Given the description of an element on the screen output the (x, y) to click on. 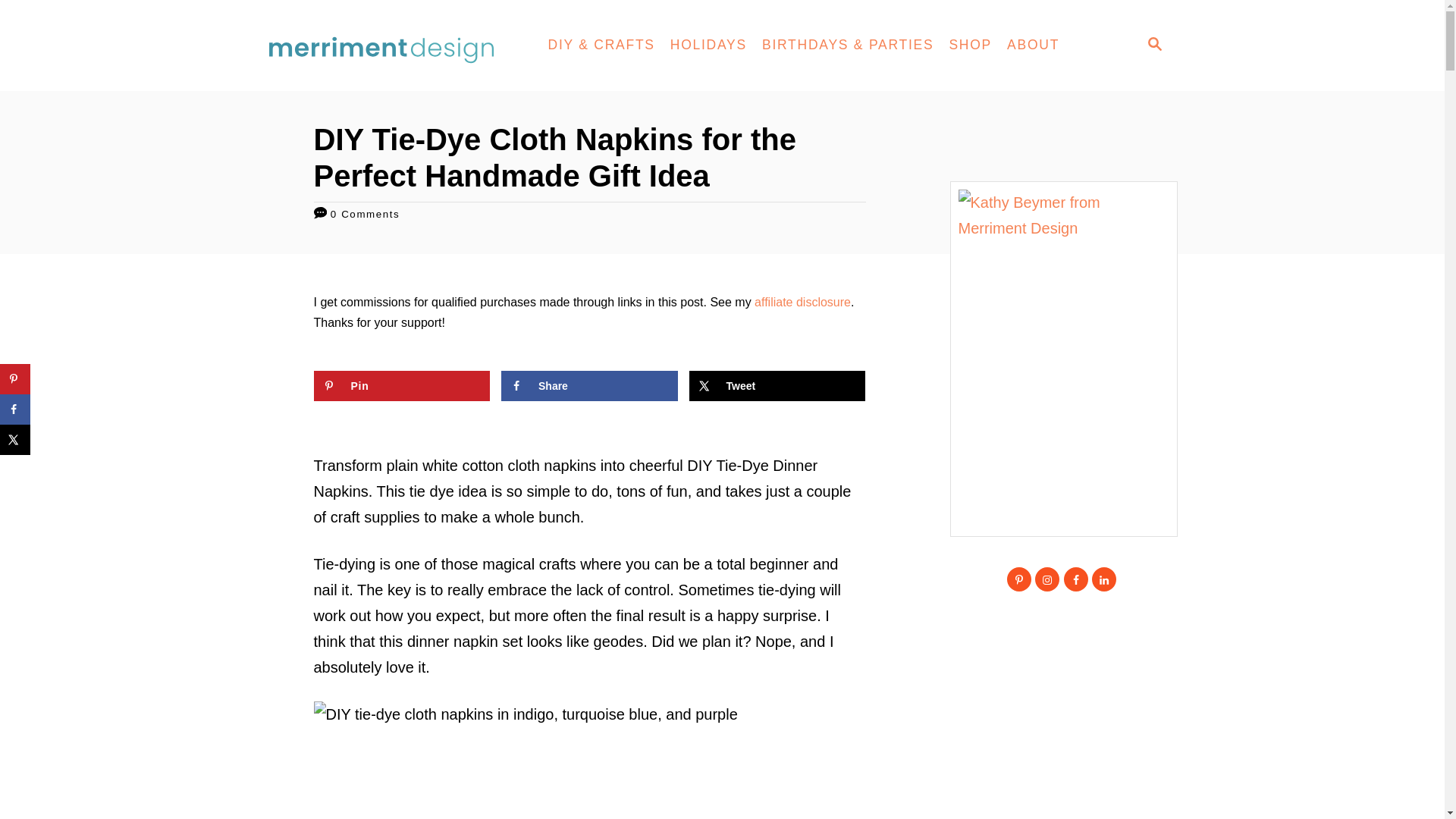
HOLIDAYS (708, 45)
ABOUT (1032, 45)
SHOP (969, 45)
Pin (402, 386)
Save to Pinterest (402, 386)
affiliate disclosure (802, 301)
Share on X (776, 386)
Share on Facebook (589, 386)
SEARCH (1153, 45)
